Given the description of an element on the screen output the (x, y) to click on. 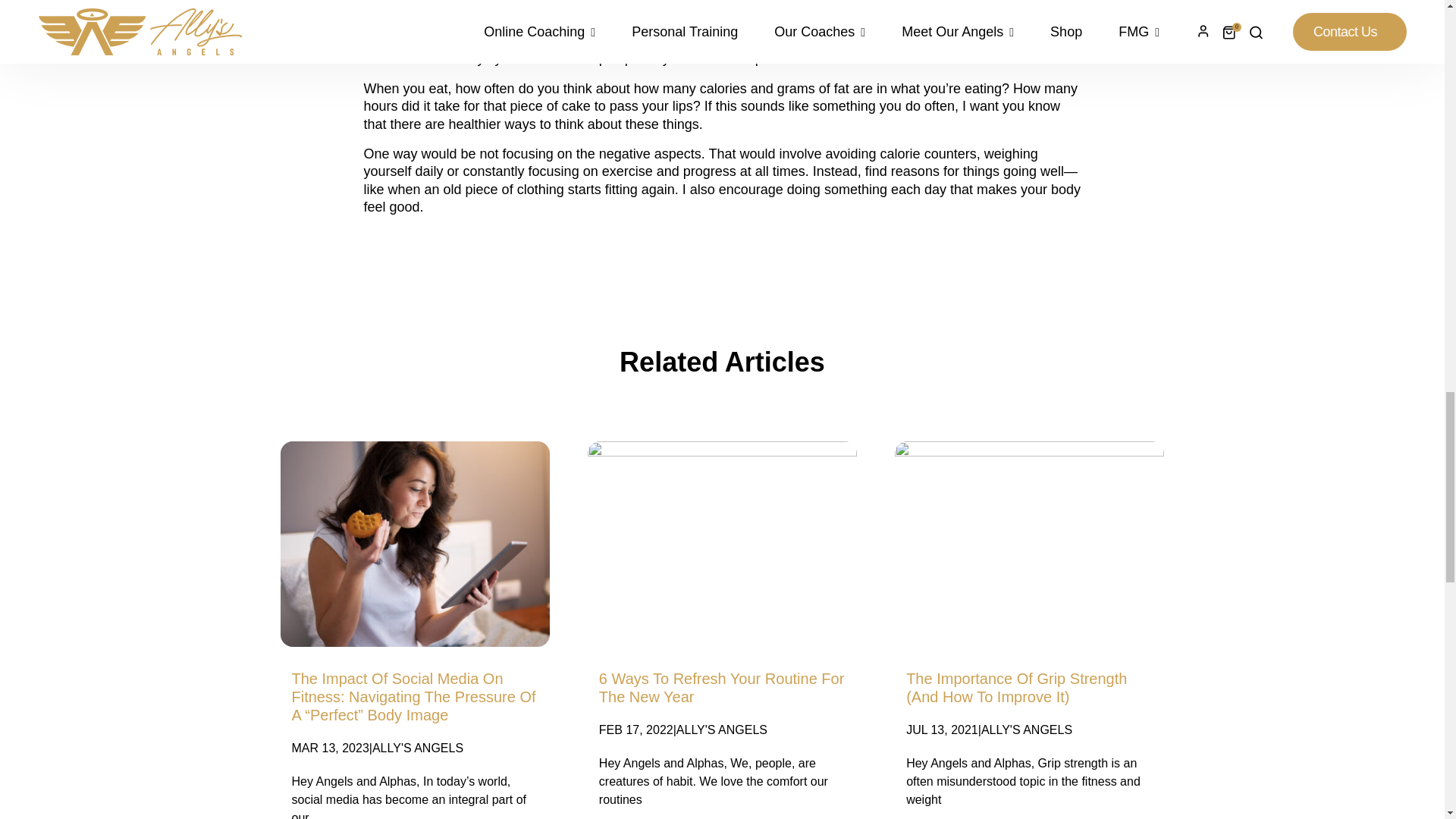
6 Ways to Refresh Your Routine for The New Year (721, 687)
